Given the description of an element on the screen output the (x, y) to click on. 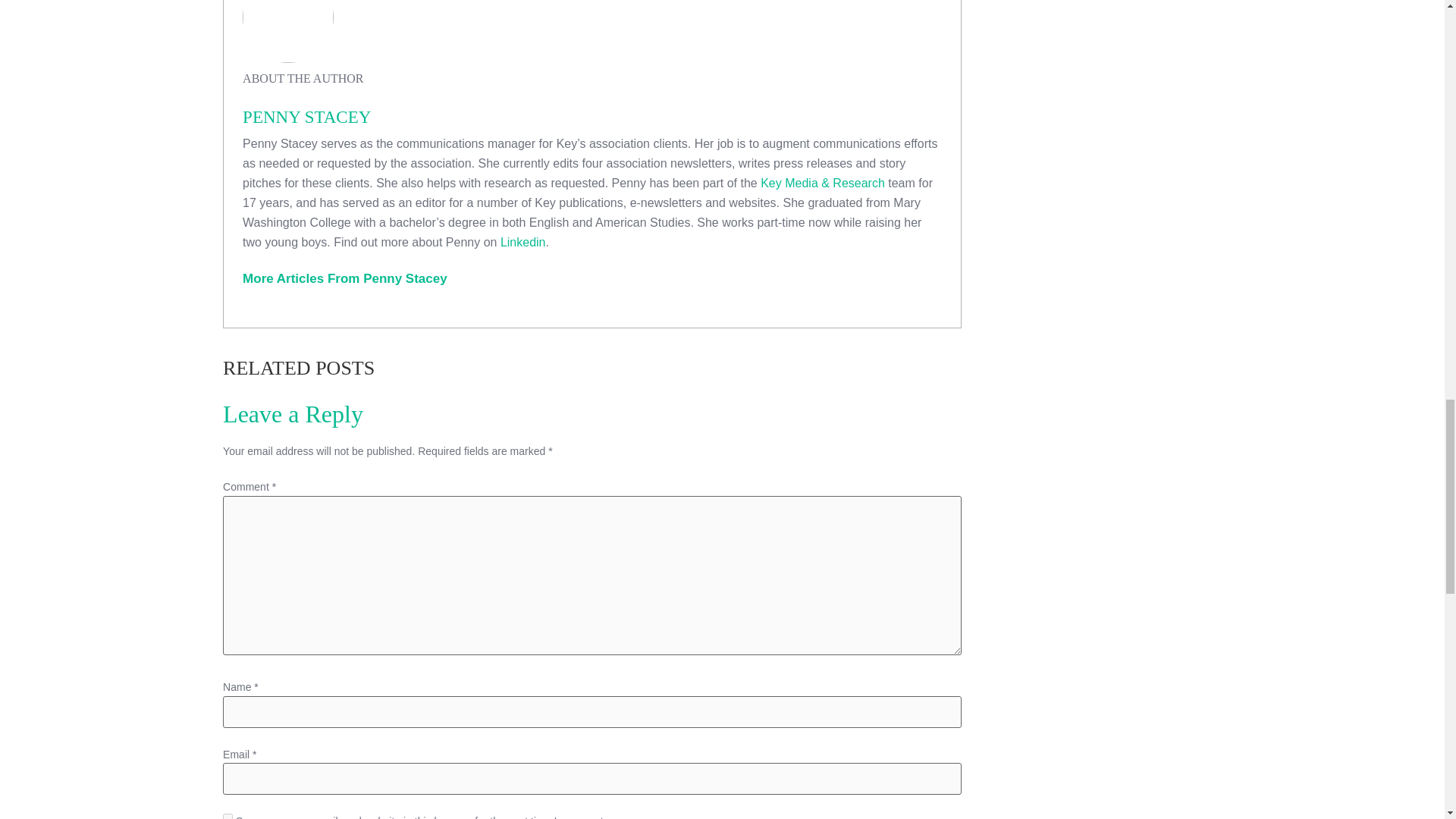
yes (227, 816)
More Articles From Penny Stacey (344, 278)
Linkedin (523, 241)
